Given the description of an element on the screen output the (x, y) to click on. 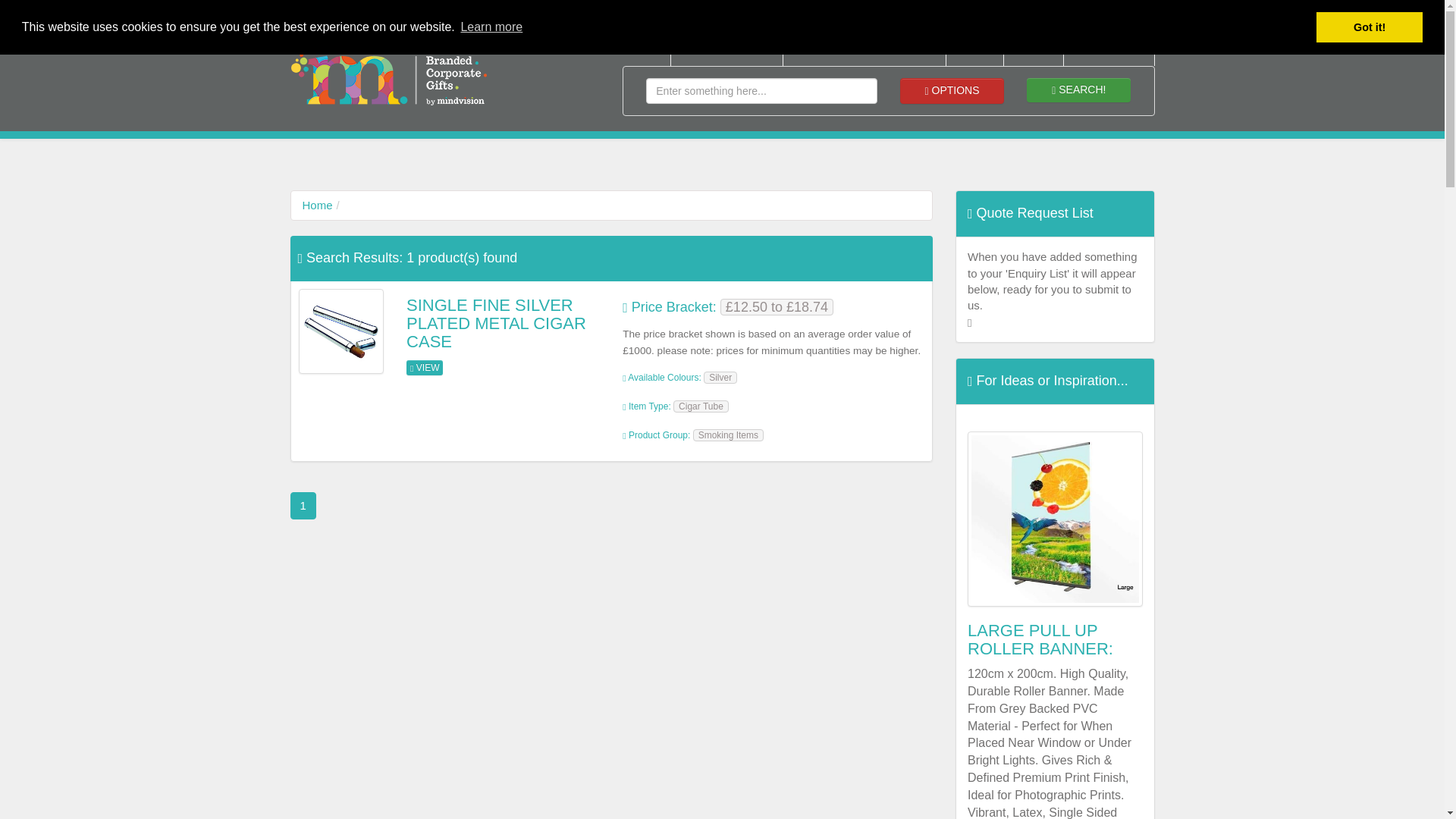
CATEGORIES (727, 46)
01666 826226 (979, 13)
Got it! (1369, 27)
HOME (636, 46)
Learn more (491, 26)
Mindvision Portal (885, 13)
